Given the description of an element on the screen output the (x, y) to click on. 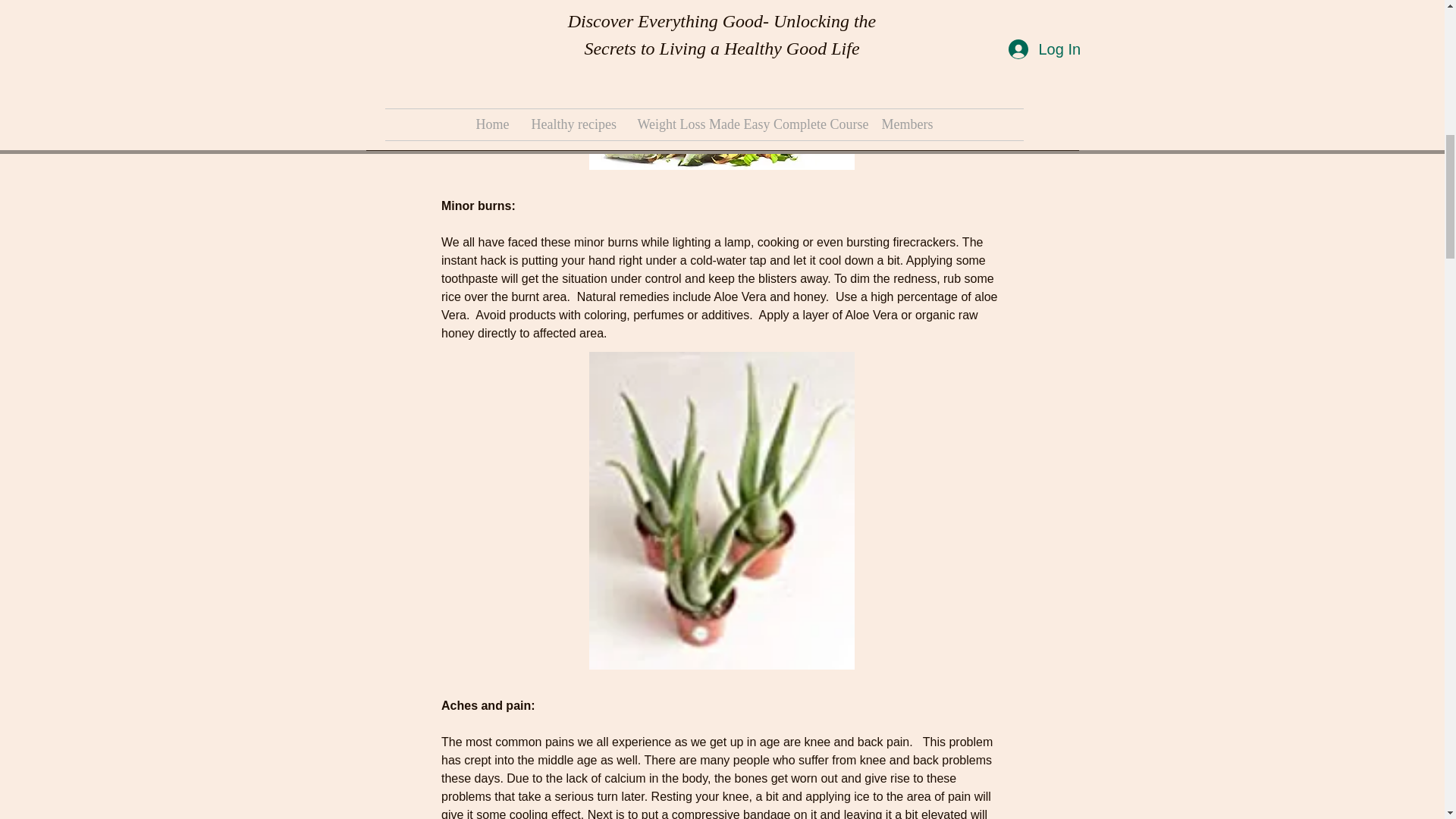
Home remedy (398, 233)
Poison known as sugar: 5 Ways Sugar is Killing You (721, 13)
coconut oil (462, 212)
Superfoods (561, 233)
allergies help (396, 212)
Food For Thought: Healthy Food For Mental Clarity (964, 25)
Healthy Eating (678, 212)
Home Remedies (761, 212)
How to Break Your Sugar Addiction Before It Breaks You. (479, 80)
healing oils (607, 212)
